Given the description of an element on the screen output the (x, y) to click on. 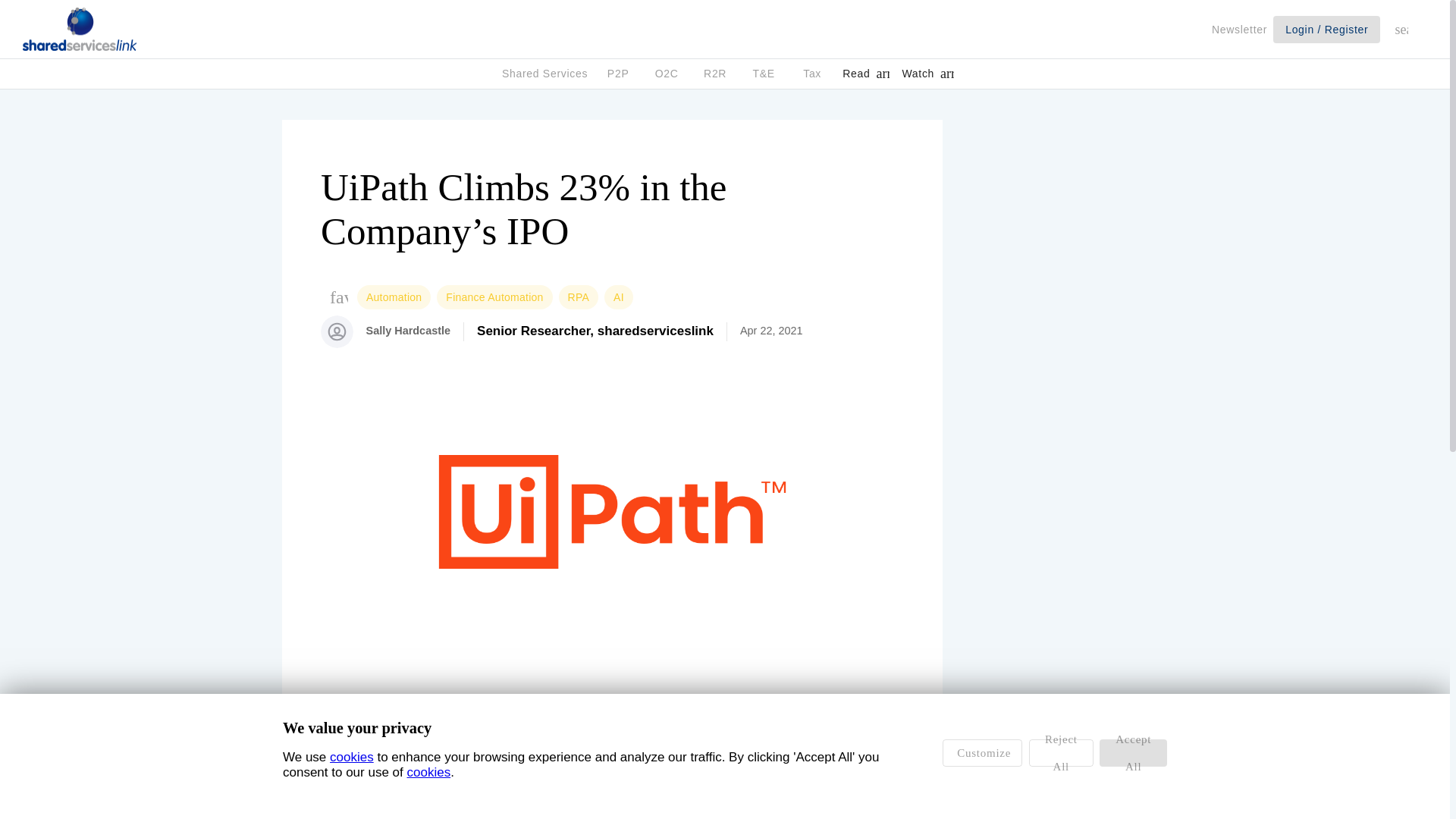
P2P (618, 72)
Newsletter (1238, 29)
O2C (666, 73)
R2R (714, 73)
R2R (714, 72)
Sally Hardcastle (407, 330)
Tax (811, 73)
Shared Services (545, 72)
P2P (618, 73)
Finance Automation (490, 296)
